Given the description of an element on the screen output the (x, y) to click on. 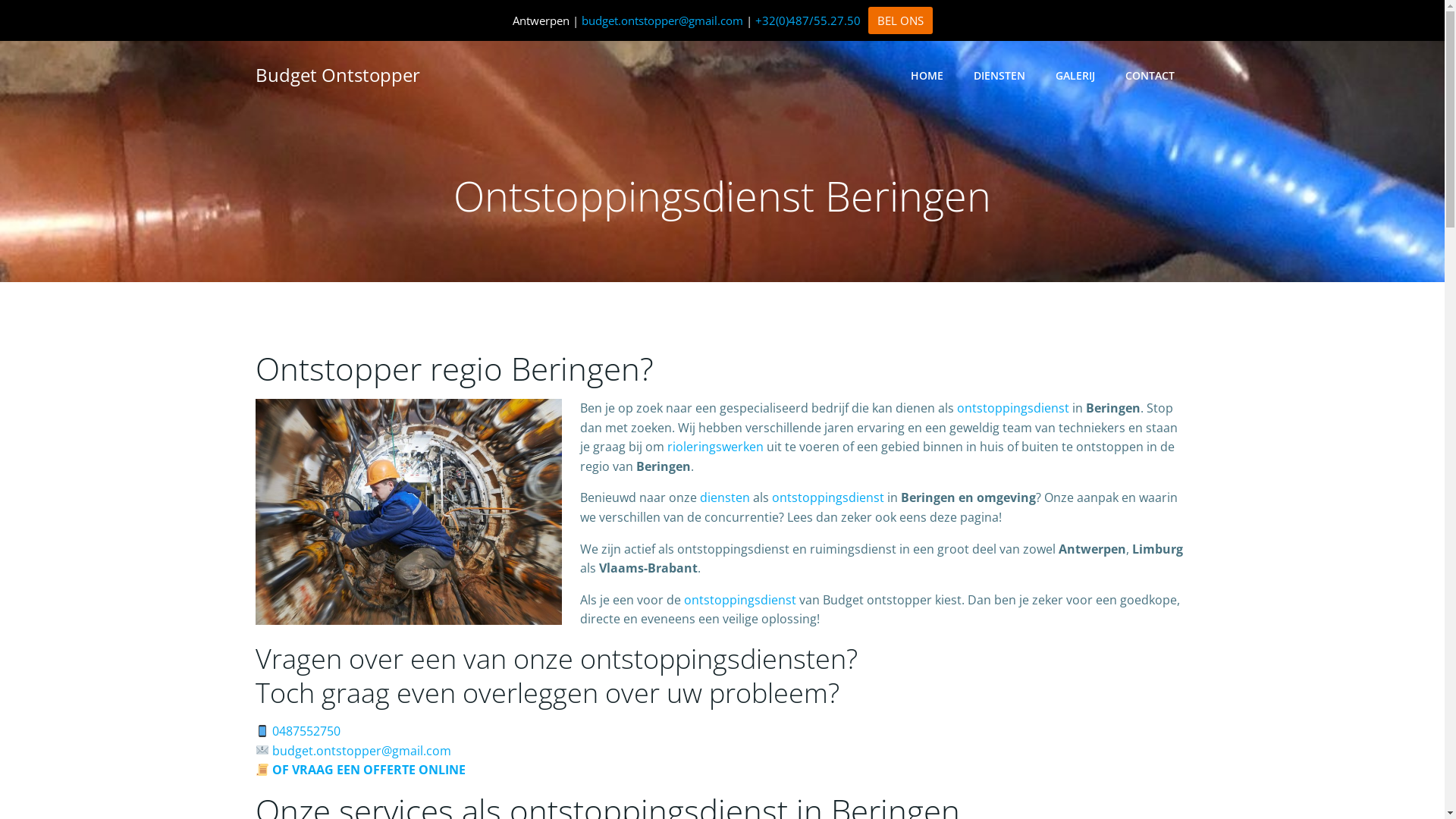
ontstoppingsdienst Element type: text (740, 599)
+32(0)487/55.27.50 Element type: text (807, 20)
ontstoppingsdienst Element type: text (1013, 407)
Colibri Element type: text (911, 773)
BEL ONS Element type: text (899, 20)
DIENSTEN Element type: text (999, 74)
Budget Ontstopper Element type: text (336, 74)
diensten Element type: text (725, 497)
budget.ontstopper@gmail.com Element type: text (361, 750)
0487552750 Element type: text (306, 730)
HOME Element type: text (926, 74)
rioleringswerken Element type: text (715, 446)
ontstoppingsdienst Element type: text (827, 497)
GALERIJ Element type: text (1075, 74)
budget.ontstopper@gmail.com Element type: text (661, 20)
CONTACT Element type: text (1149, 74)
OF VRAAG EEN OFFERTE ONLINE Element type: text (359, 769)
